Given the description of an element on the screen output the (x, y) to click on. 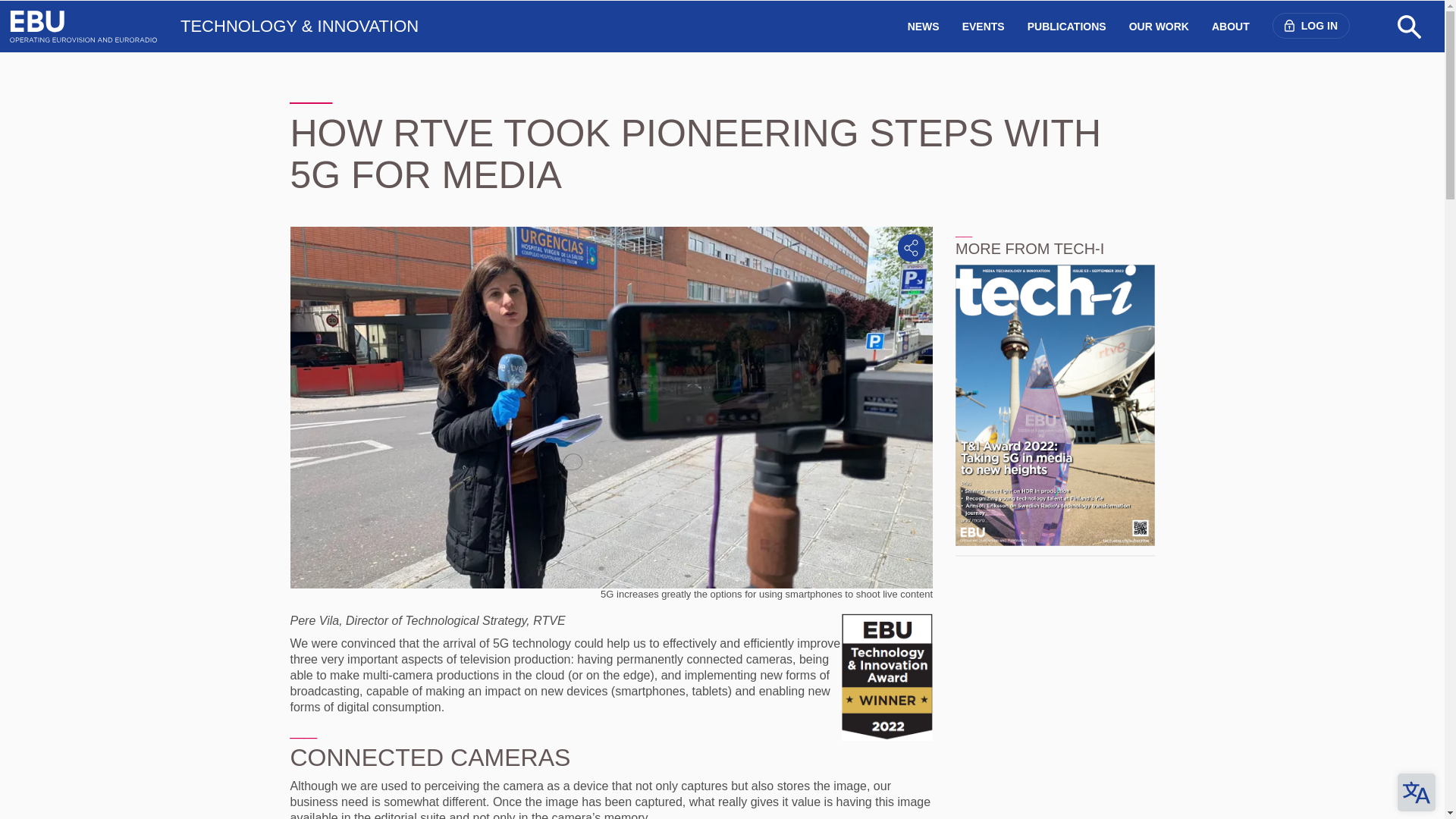
EVENTS (983, 26)
OUR WORK (1158, 26)
NEWS (923, 26)
Google translate this page (1416, 792)
PUBLICATIONS (1067, 26)
ABOUT (1229, 26)
LOG IN (1310, 25)
